Given the description of an element on the screen output the (x, y) to click on. 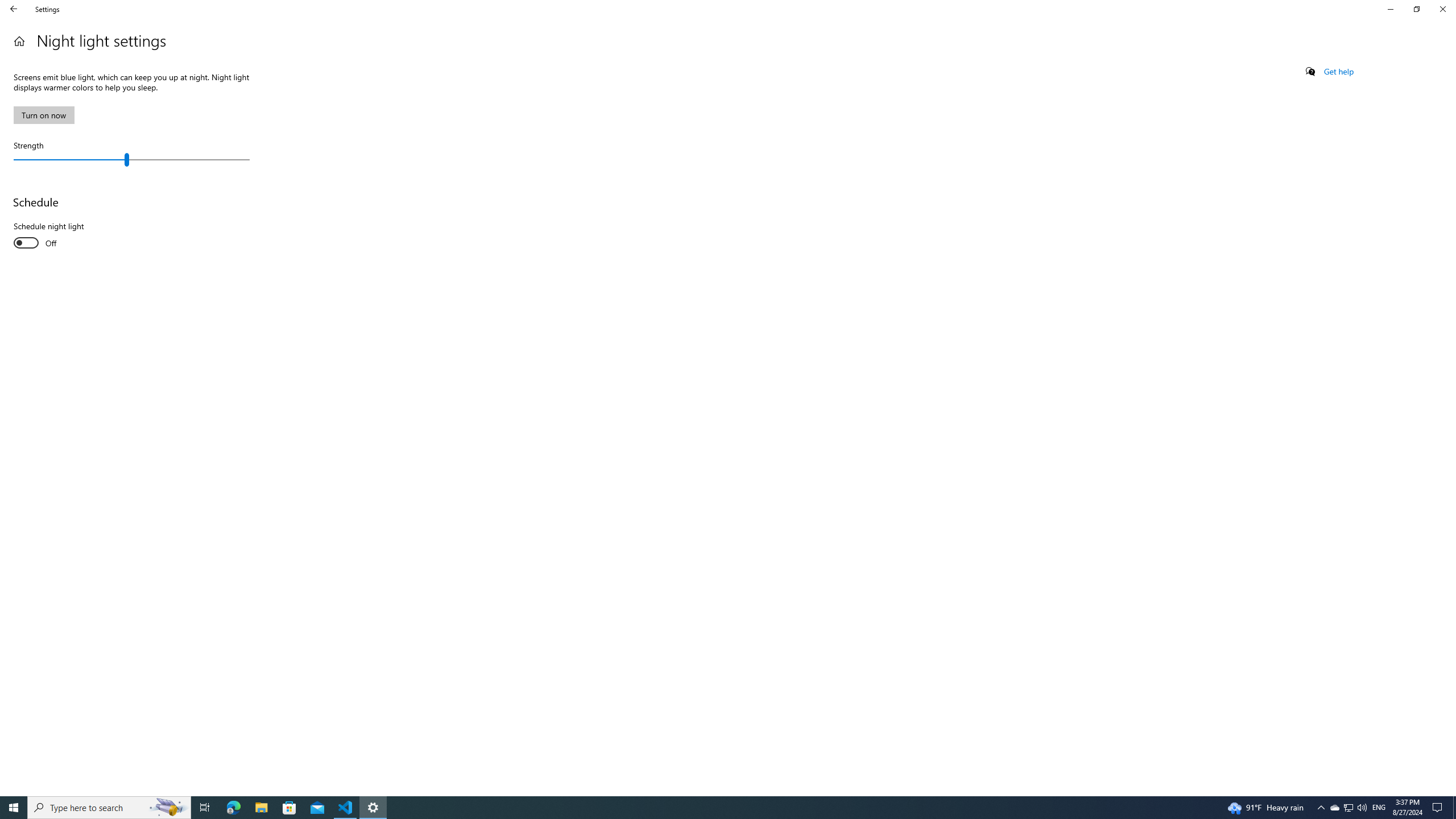
Back (13, 9)
Home (19, 40)
Restore Settings (1416, 9)
Get help (1338, 71)
Tray Input Indicator - English (United States) (1378, 807)
